Given the description of an element on the screen output the (x, y) to click on. 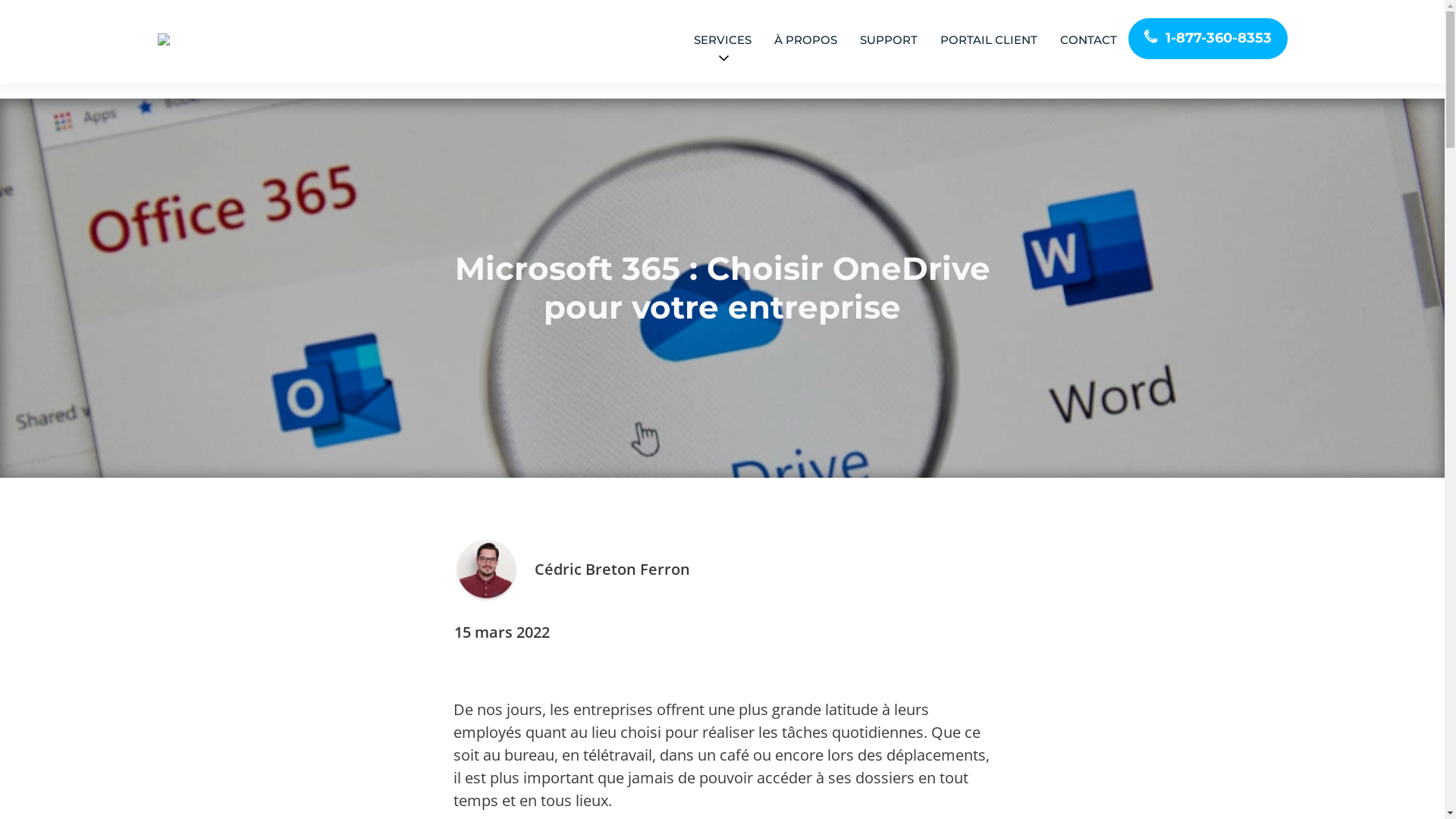
1-877-360-8353 Element type: text (1207, 38)
SUPPORT Element type: text (887, 40)
SERVICES Element type: text (722, 48)
CONTACT Element type: text (1087, 40)
PORTAIL CLIENT Element type: text (988, 40)
